Given the description of an element on the screen output the (x, y) to click on. 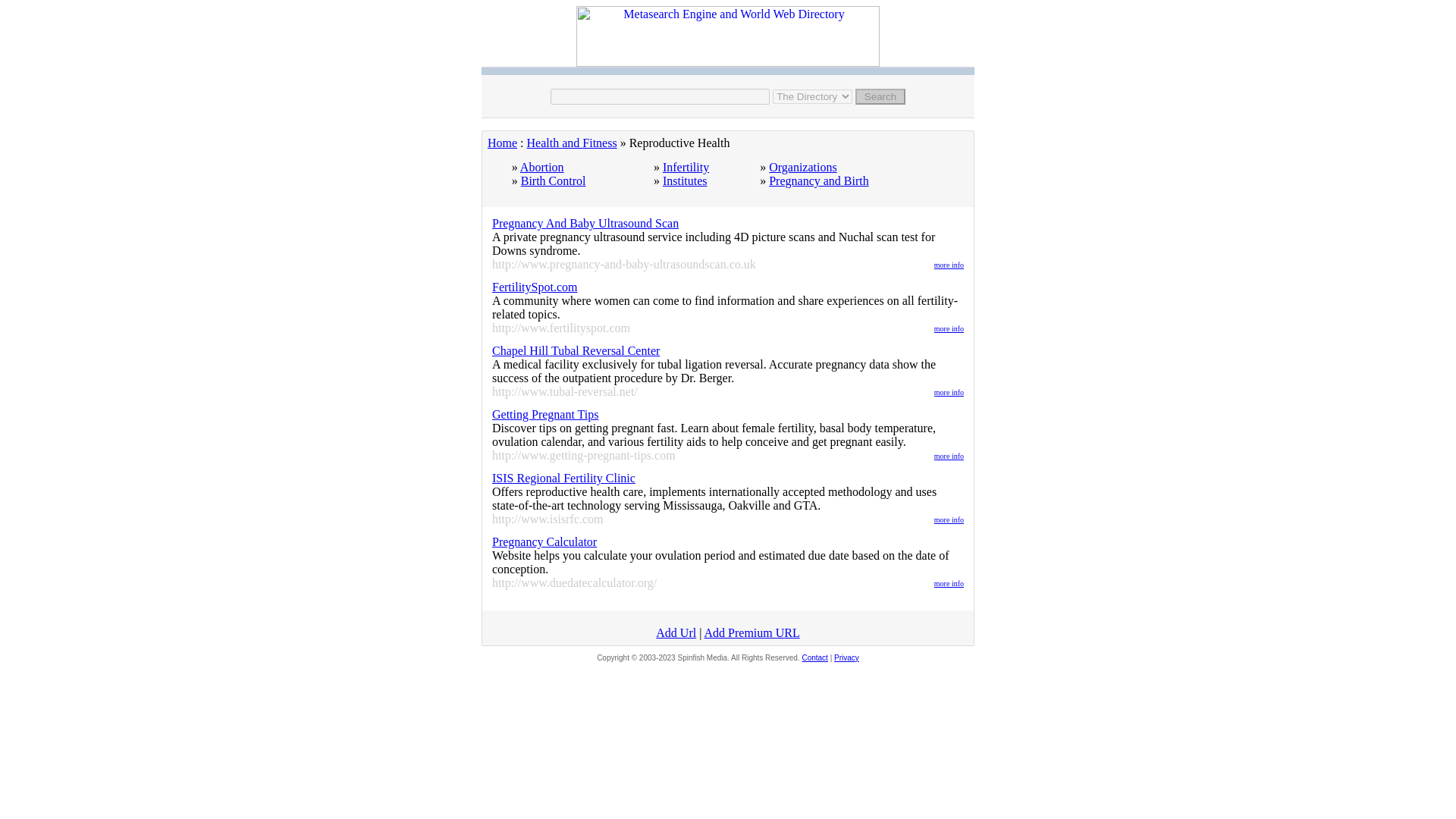
more info (948, 262)
Institutes (684, 180)
 Search  (880, 95)
more info (948, 581)
more info (948, 453)
Pregnancy And Baby Ultrasound Scan (585, 223)
ISIS Regional Fertility Clinic (563, 477)
Abortion (541, 166)
Organizations (801, 166)
Add Premium URL (751, 632)
